Given the description of an element on the screen output the (x, y) to click on. 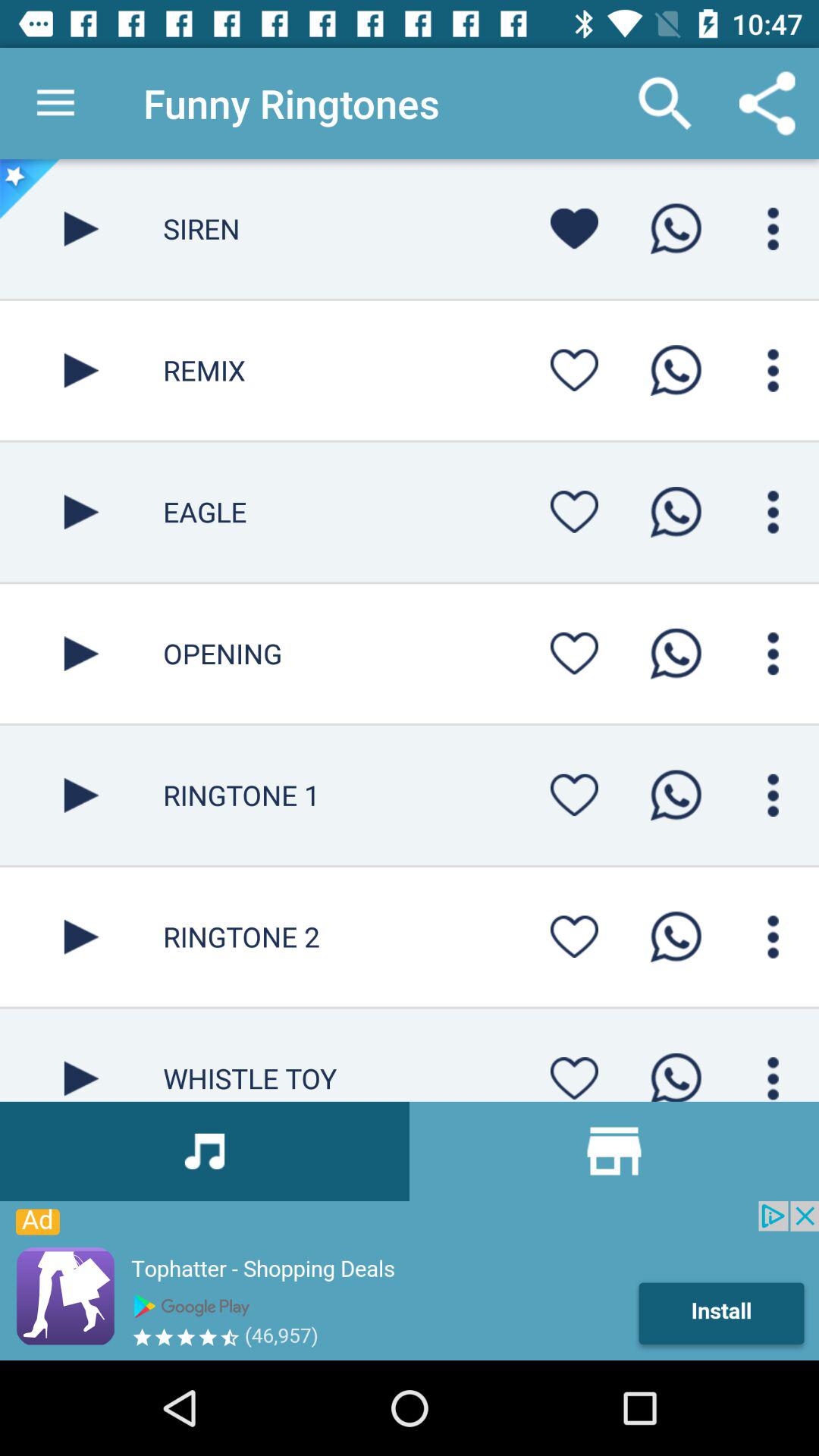
play music (81, 370)
